Given the description of an element on the screen output the (x, y) to click on. 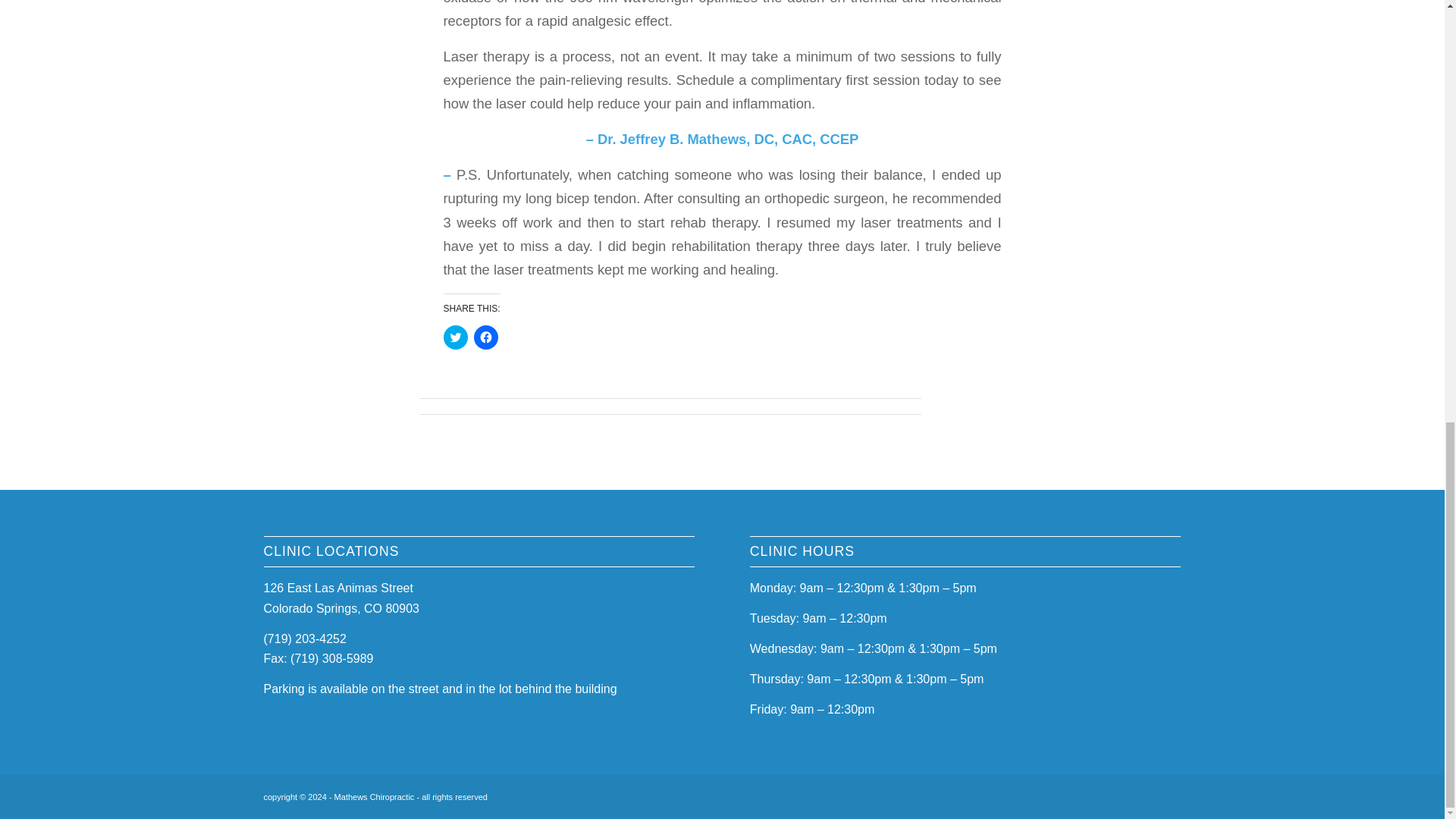
Click to share on Facebook (485, 337)
Click to share on Twitter (454, 337)
